Given the description of an element on the screen output the (x, y) to click on. 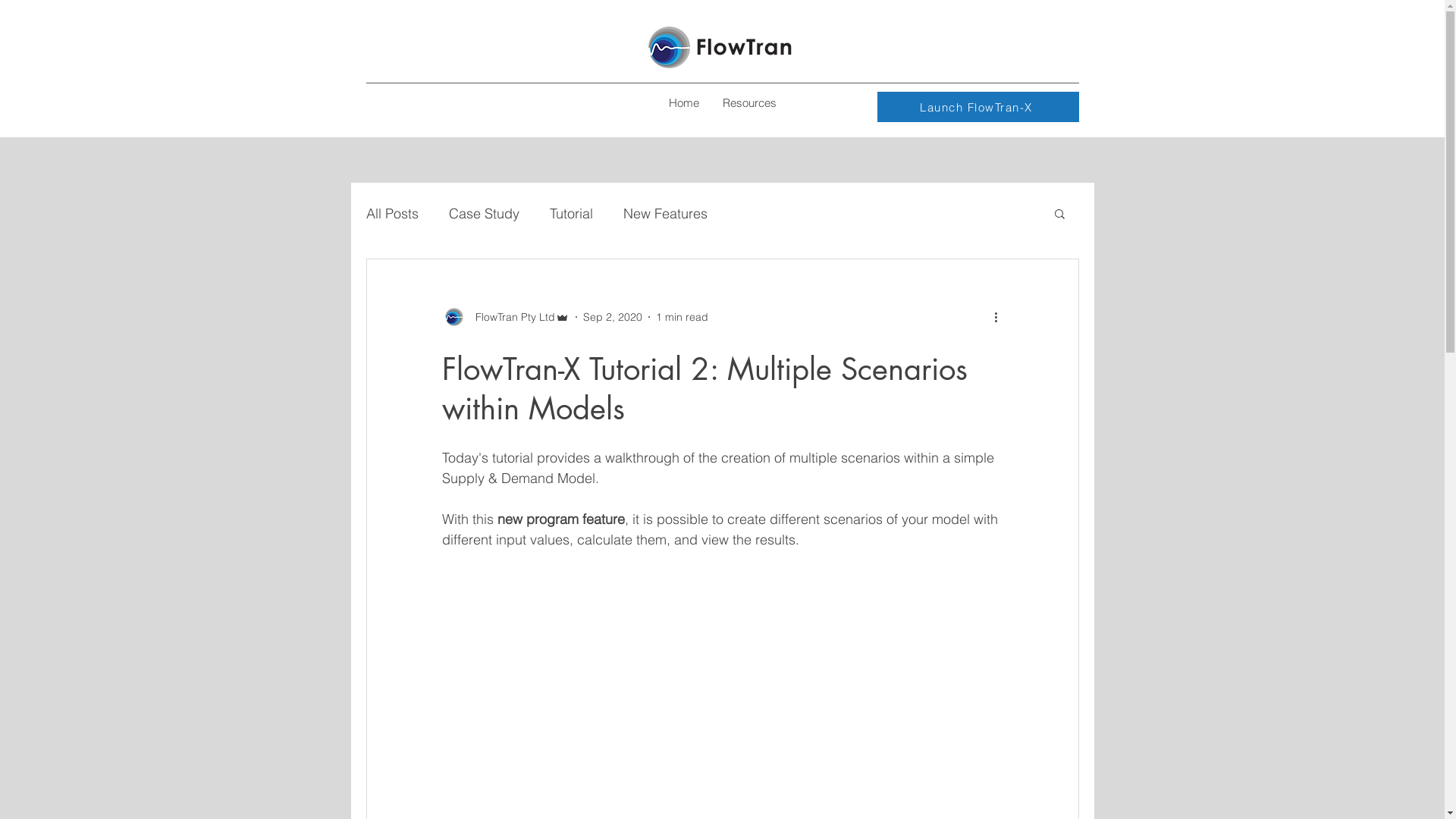
Case Study Element type: text (483, 213)
FlowTran Pty Ltd Element type: text (504, 316)
Tutorial Element type: text (570, 213)
Launch FlowTran-X Element type: text (977, 106)
Home Element type: text (683, 102)
New Features Element type: text (665, 213)
Resources Element type: text (748, 102)
All Posts Element type: text (391, 213)
